Given the description of an element on the screen output the (x, y) to click on. 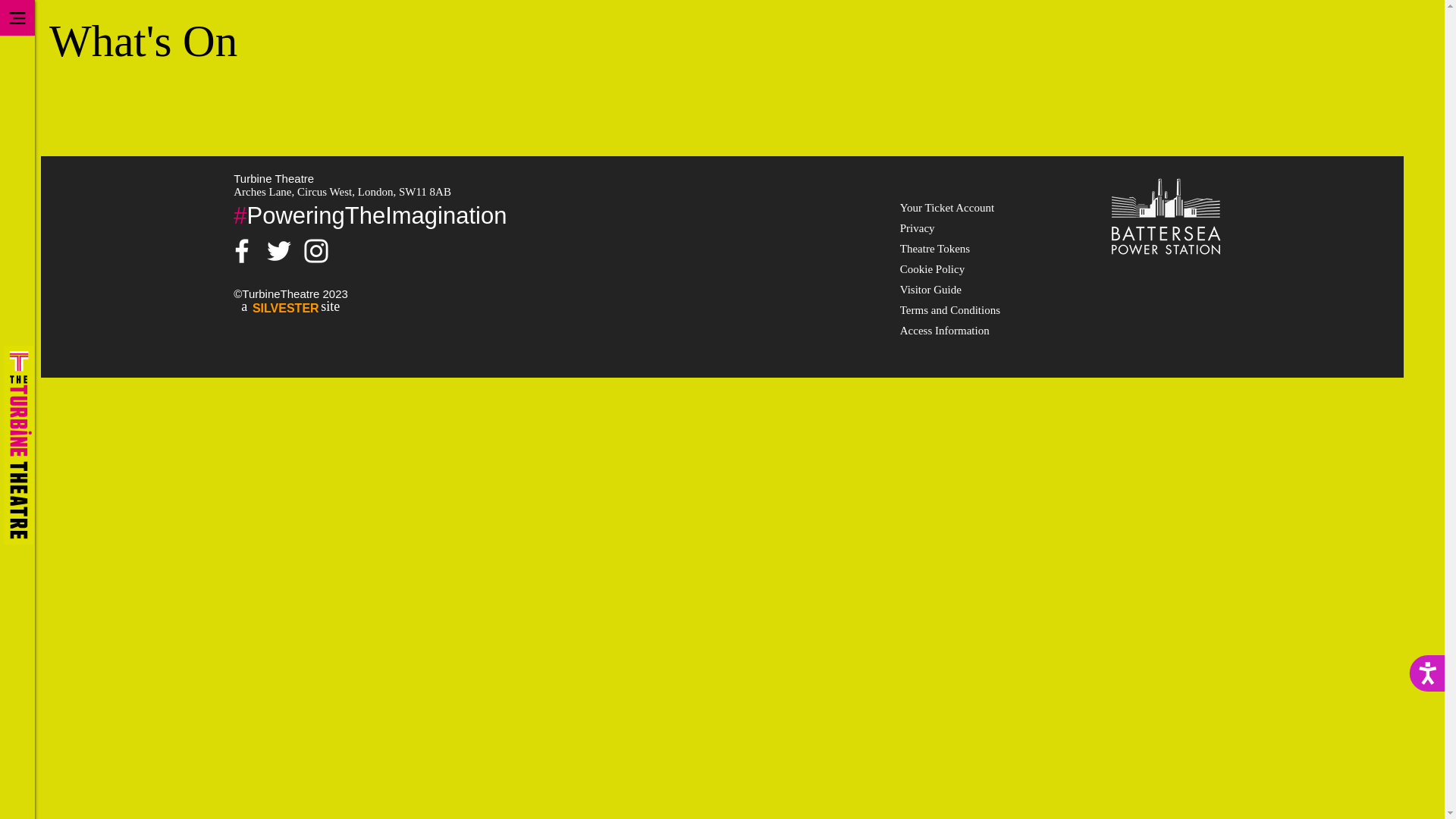
SILVESTER (293, 308)
Theatre Tokens (934, 248)
Visitor Guide (929, 289)
Your Ticket Account (946, 207)
Access Information (944, 330)
Privacy  (918, 227)
Terms and Conditions (949, 309)
Cookie Policy (931, 268)
